Given the description of an element on the screen output the (x, y) to click on. 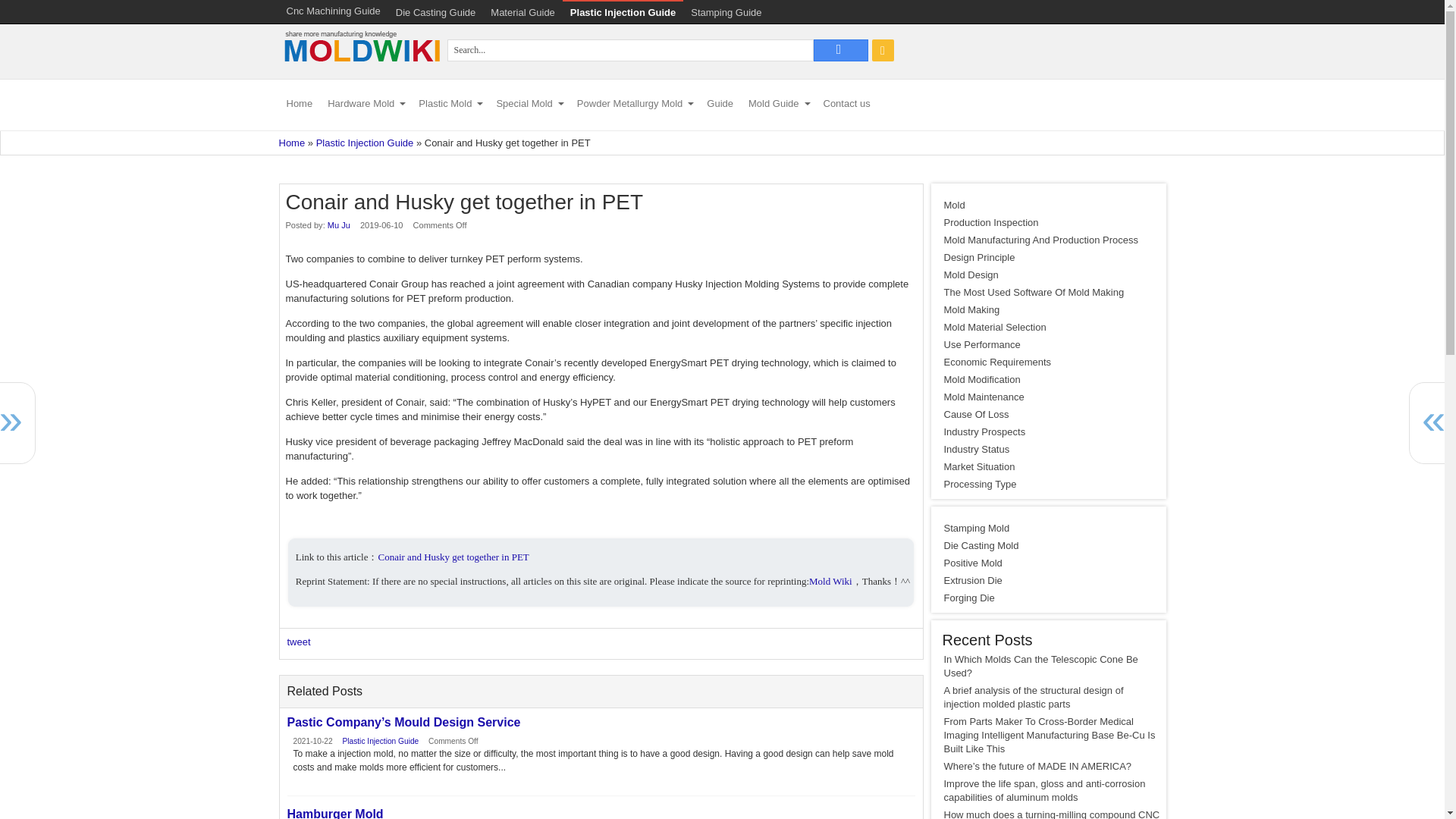
Home (292, 142)
Mu Ju (338, 225)
View all post by (338, 225)
Search... (839, 50)
Hardware Mold (365, 104)
Contact us (846, 104)
Mold Wiki (361, 69)
Mold Guide (778, 104)
Plastic Mold (448, 104)
Die Casting Guide (435, 11)
